Given the description of an element on the screen output the (x, y) to click on. 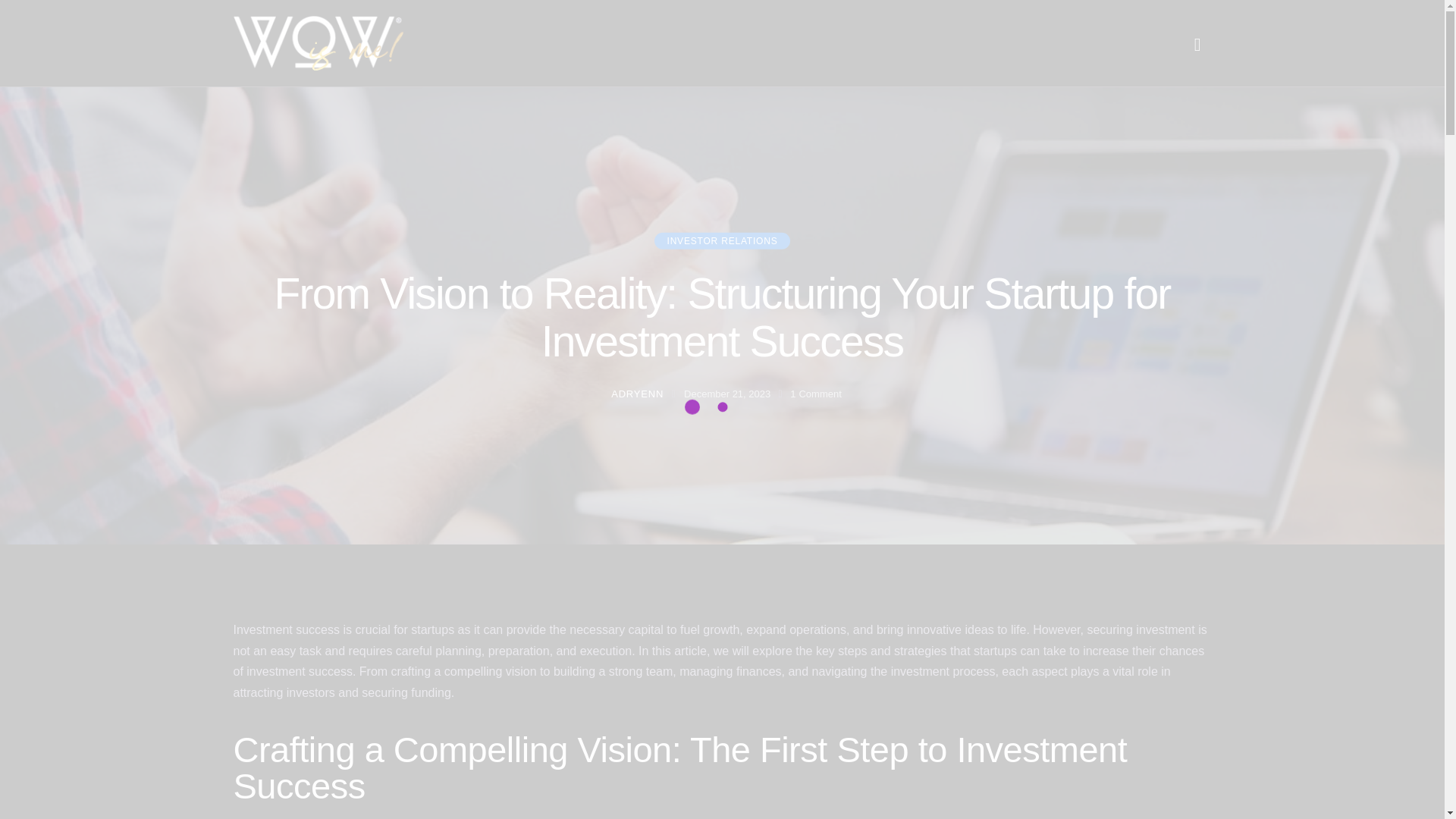
INVESTOR RELATIONS (721, 240)
1Comment (815, 394)
ADRYENN (641, 394)
